Given the description of an element on the screen output the (x, y) to click on. 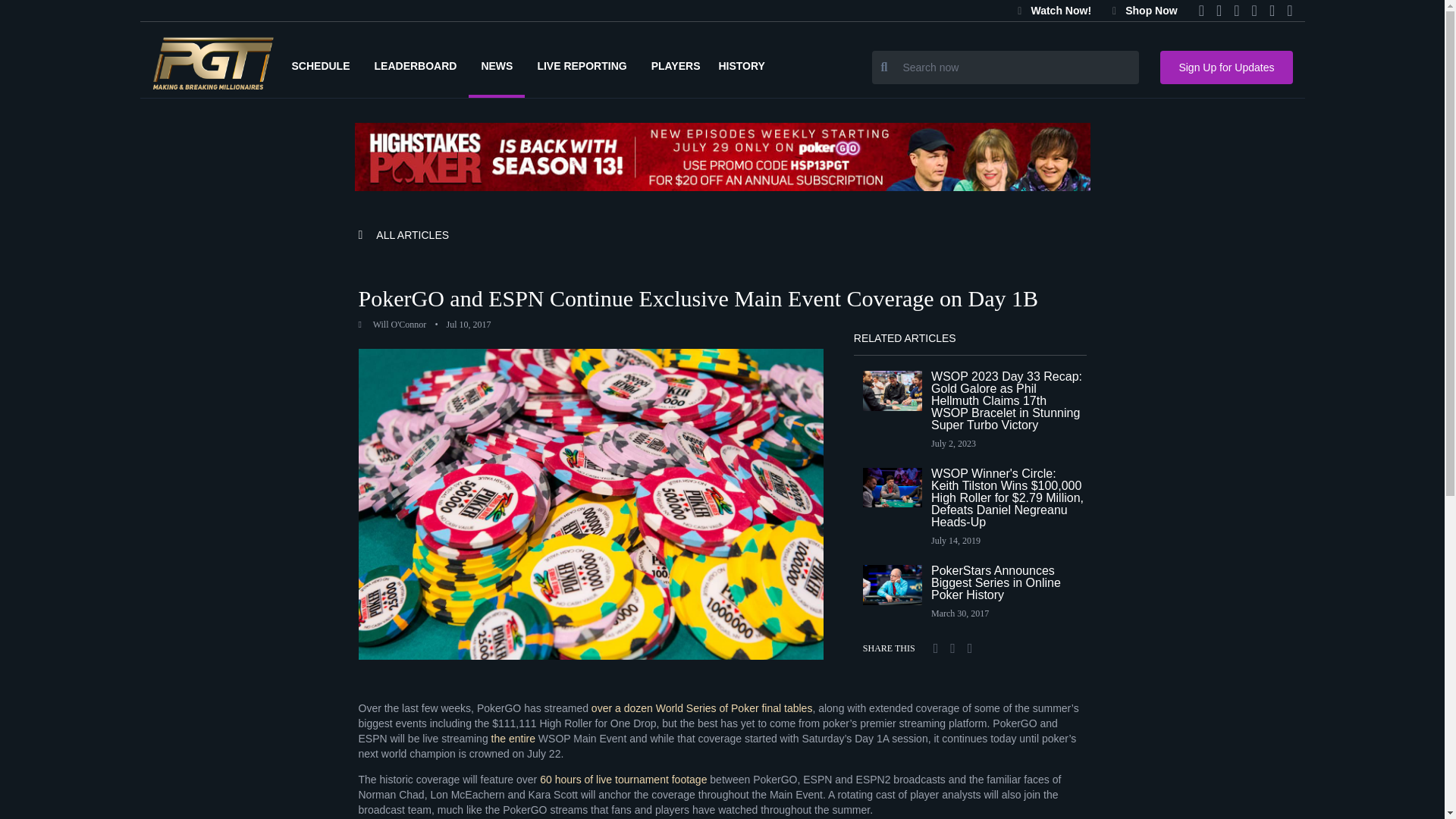
Sign Up for Updates (1226, 67)
LEADERBOARD (415, 65)
Shop Now (1144, 10)
PLAYERS (675, 65)
HISTORY (746, 65)
SCHEDULE (320, 65)
NEWS (496, 65)
LIVE REPORTING (581, 65)
Watch Now! (1053, 10)
